Given the description of an element on the screen output the (x, y) to click on. 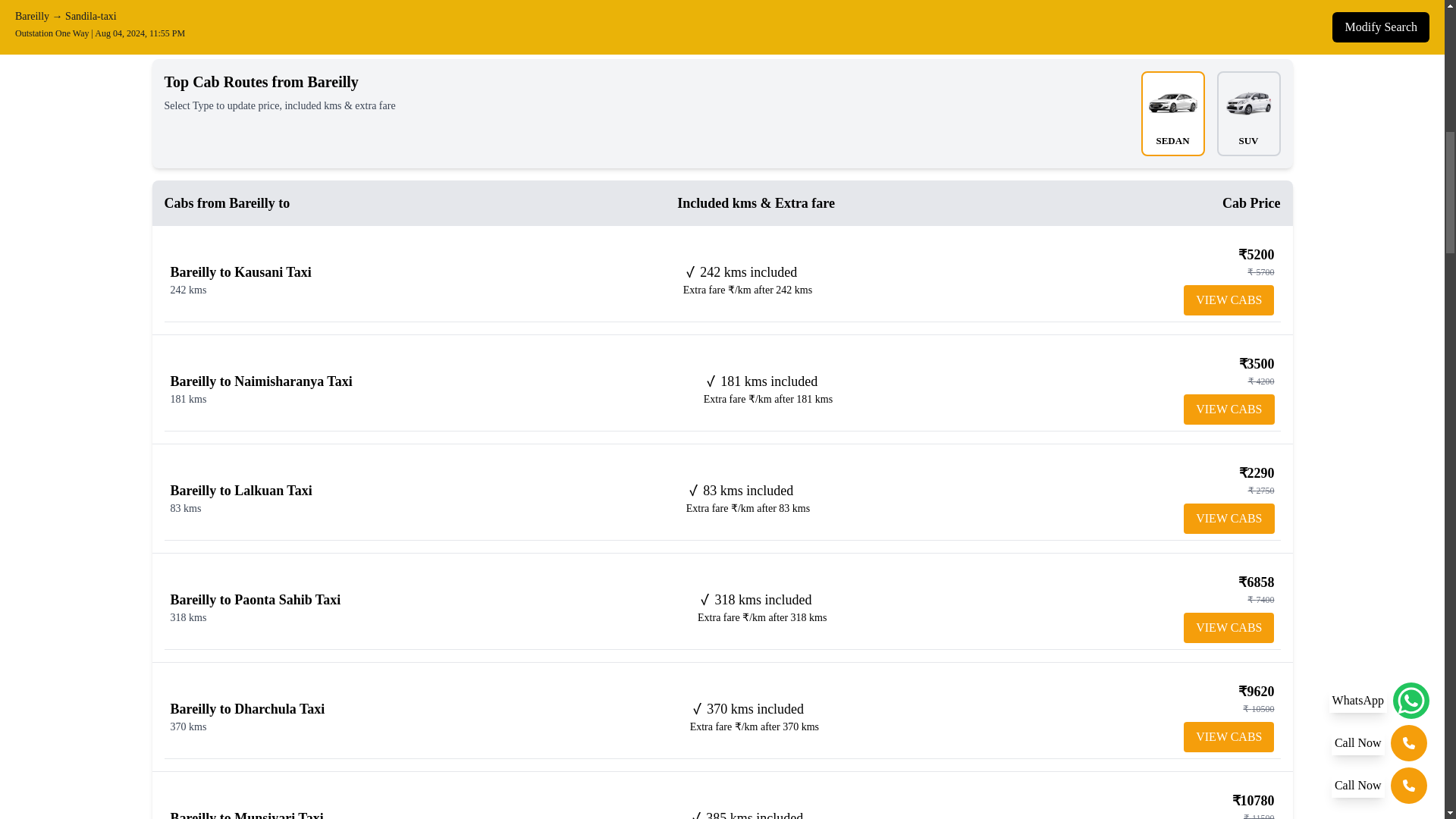
VIEW CABS (1228, 300)
Bareilly to Kausani Taxi (240, 271)
Bareilly to Naimisharanya Taxi (261, 380)
VIEW CABS (1228, 409)
Bareilly to Paonta Sahib Taxi (255, 598)
Bareilly to Munsiyari Taxi (246, 814)
VIEW CABS (1228, 627)
VIEW CABS (1228, 518)
Bareilly to Lalkuan Taxi (240, 489)
Bareilly to Dharchula Taxi (247, 708)
VIEW CABS (1228, 736)
